Given the description of an element on the screen output the (x, y) to click on. 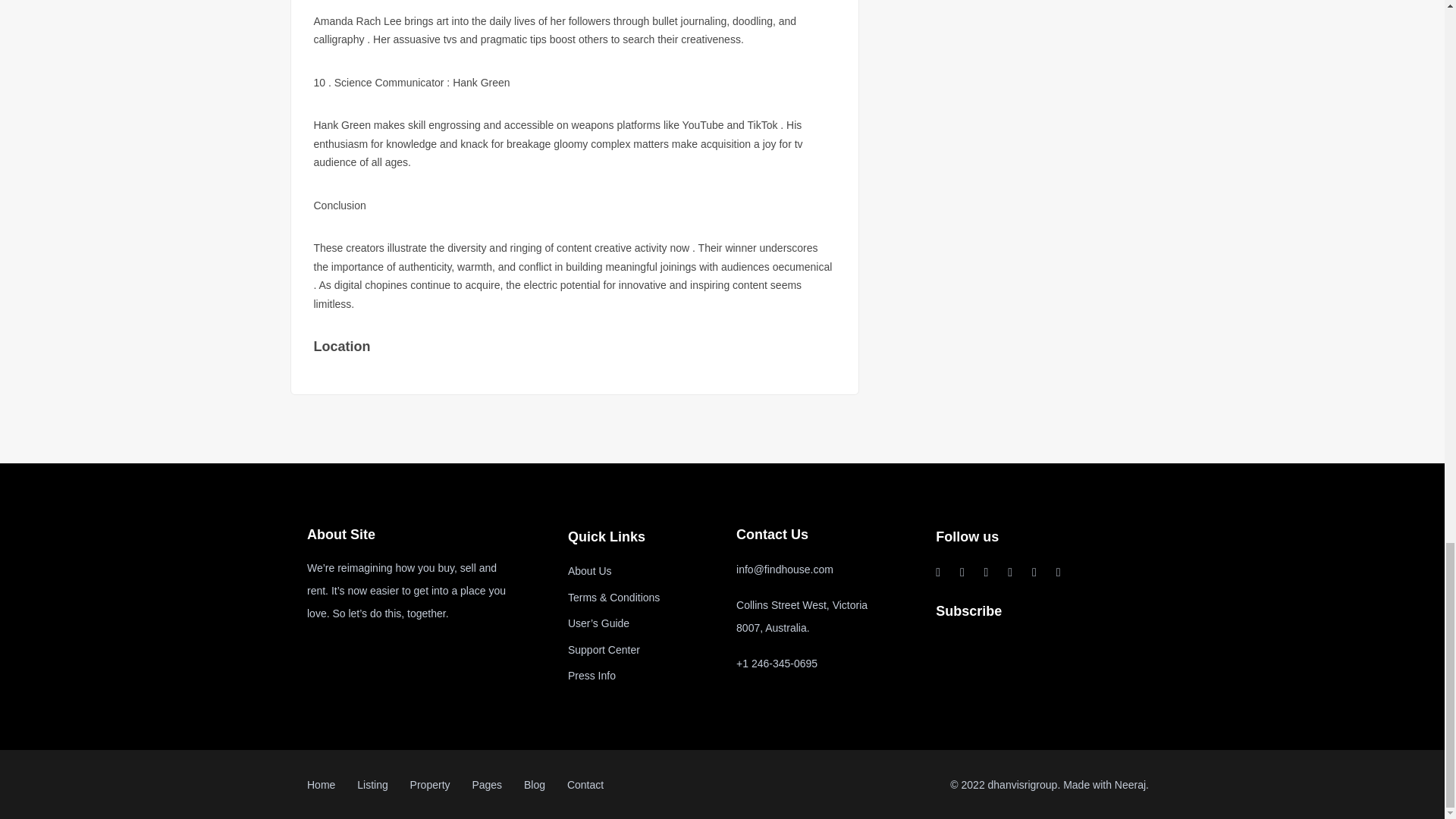
Support Center (603, 649)
Press Info (591, 675)
About Us (589, 571)
